Given the description of an element on the screen output the (x, y) to click on. 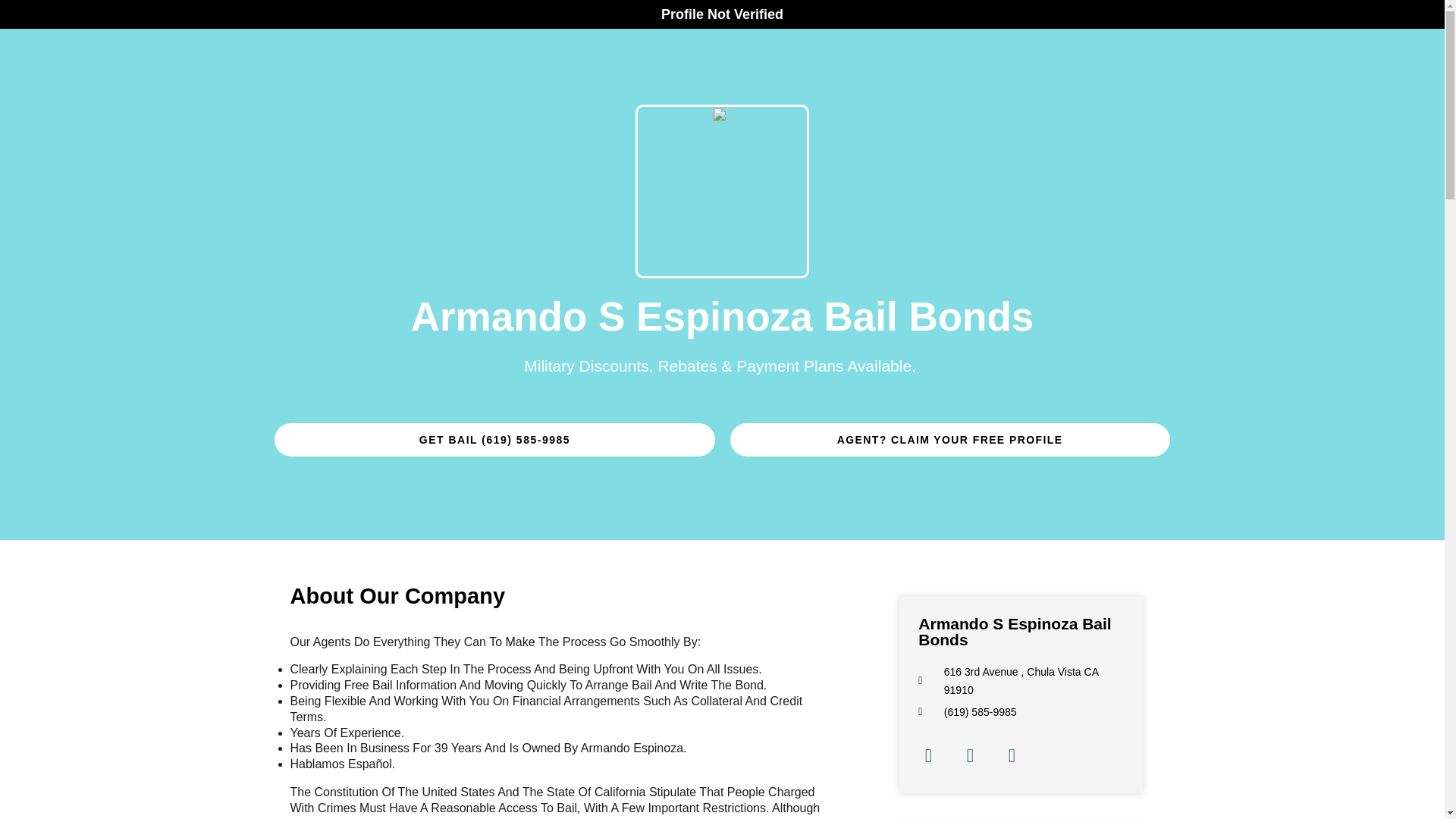
AGENT? CLAIM YOUR FREE PROFILE (949, 439)
